Given the description of an element on the screen output the (x, y) to click on. 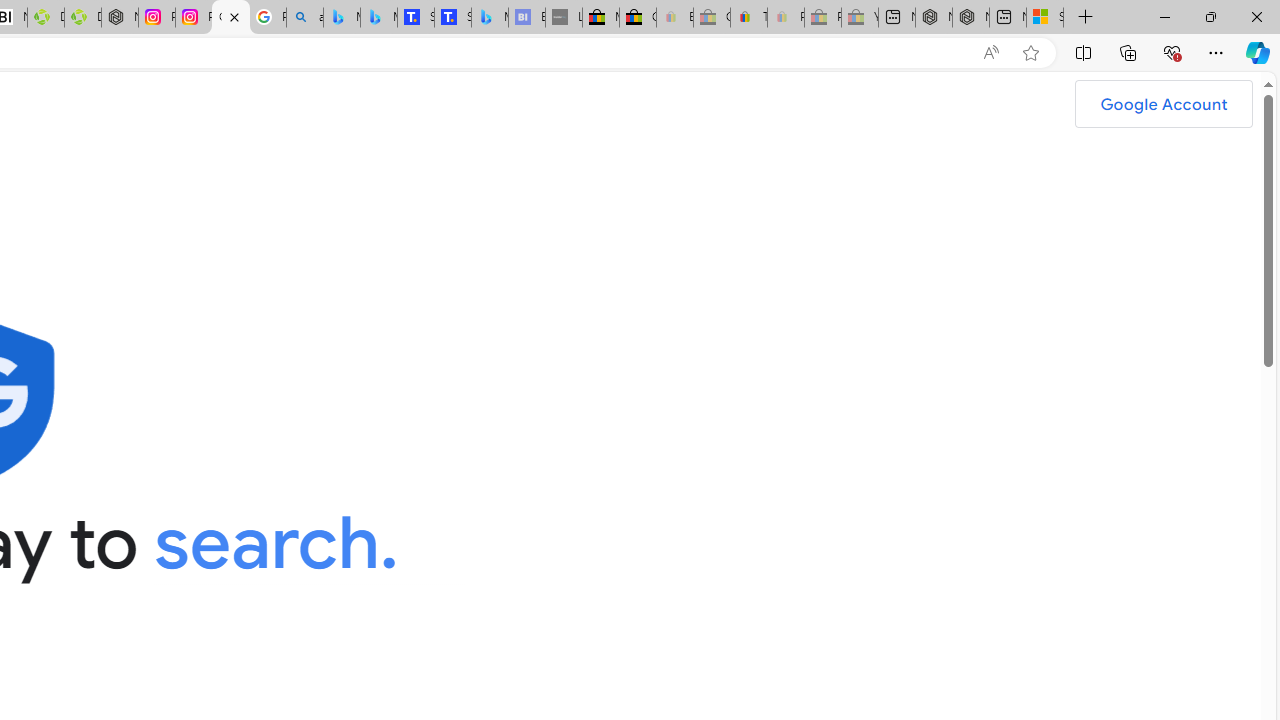
Microsoft Bing Travel - Flights from Hong Kong to Bangkok (341, 17)
Sign in to your Microsoft account (1044, 17)
Nordace - Nordace Edin Collection (120, 17)
